Given the description of an element on the screen output the (x, y) to click on. 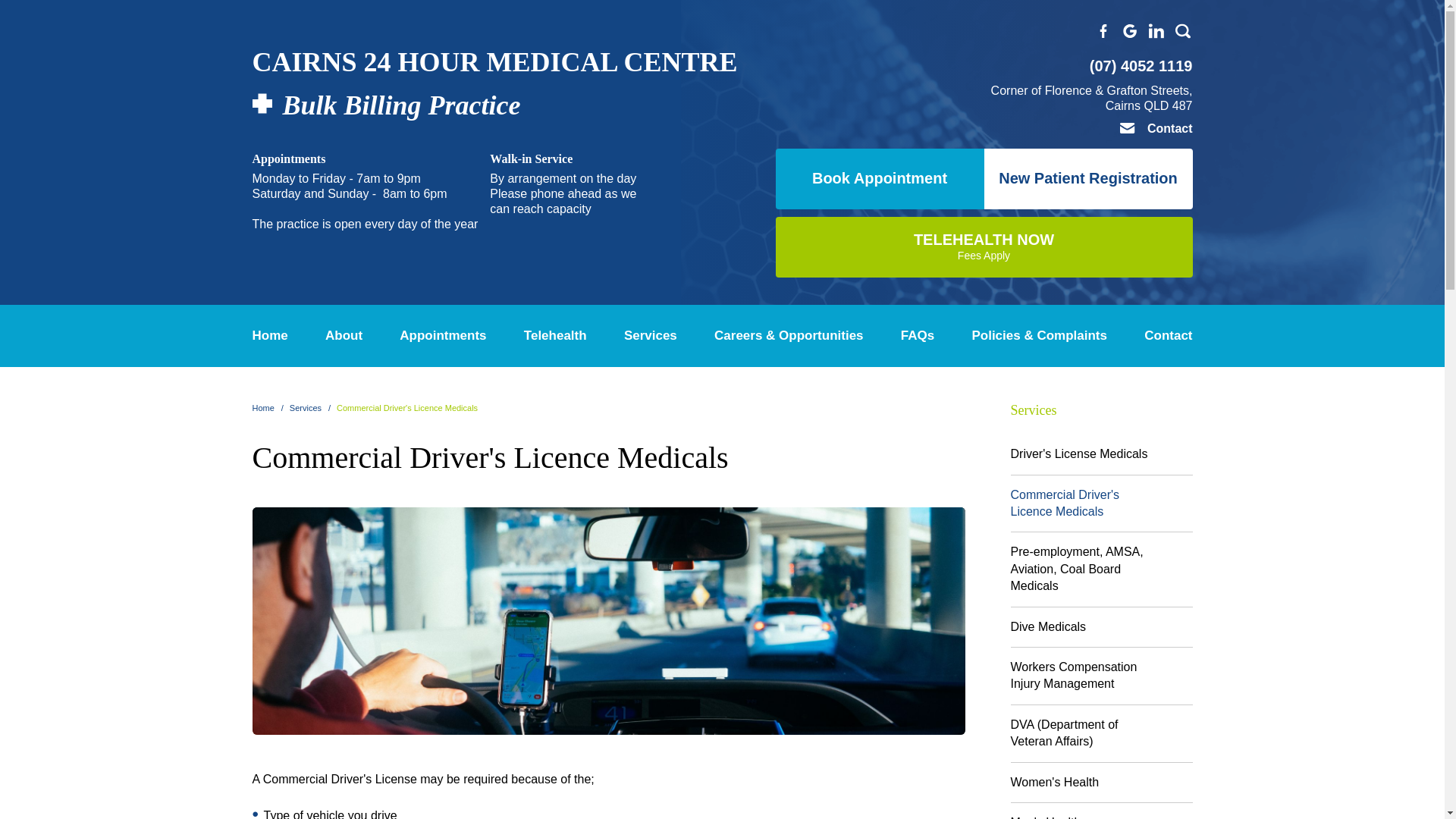
Telehealth (555, 335)
New Patient Registration (1088, 178)
Appointments (983, 247)
Appointments (442, 335)
Contact (442, 335)
Telehealth (1160, 128)
Book Appointment (493, 92)
